Given the description of an element on the screen output the (x, y) to click on. 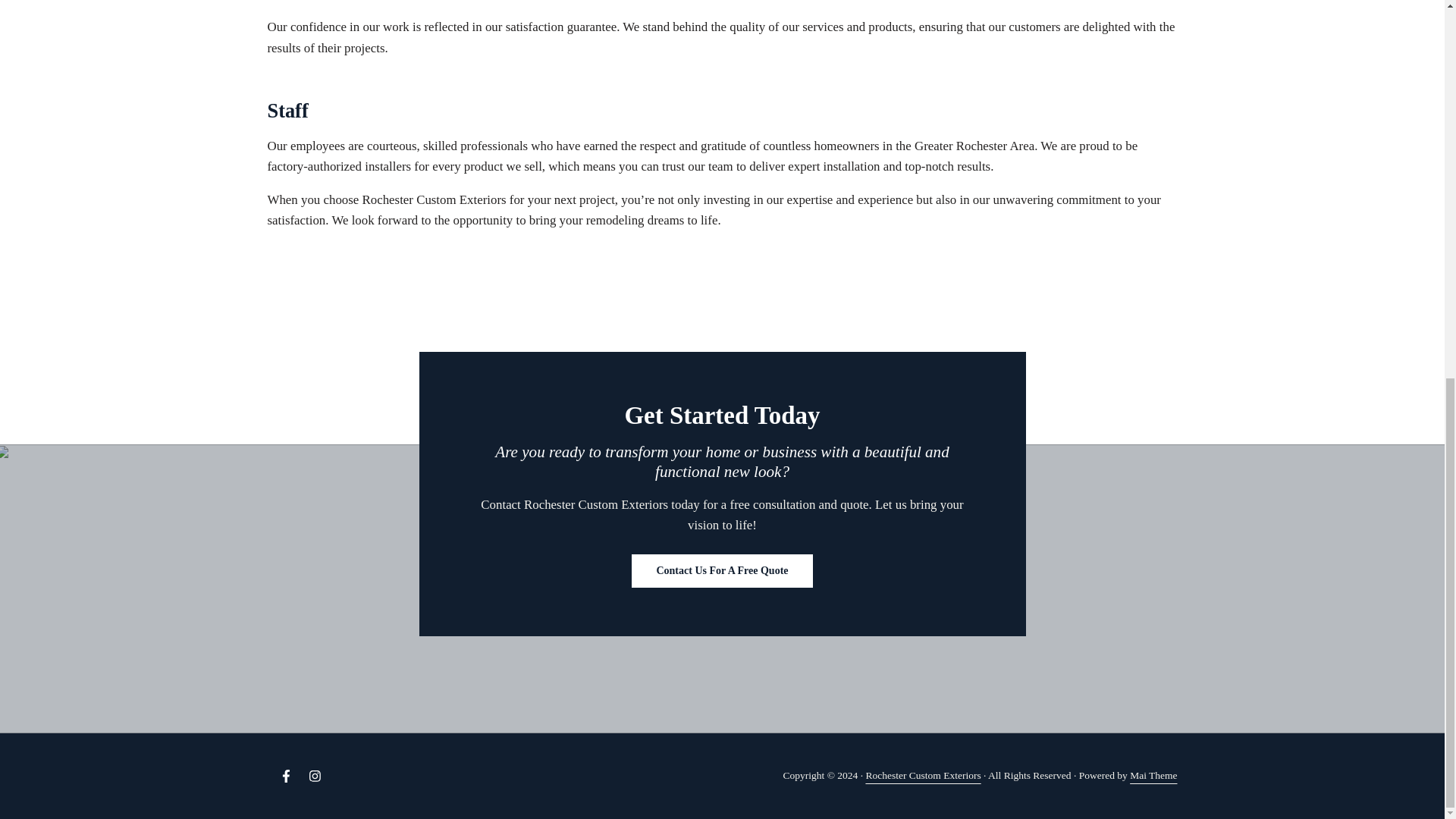
Rochester Custom Exteriors (921, 775)
Contact Us For A Free Quote (721, 571)
Mai Theme (1152, 775)
